Given the description of an element on the screen output the (x, y) to click on. 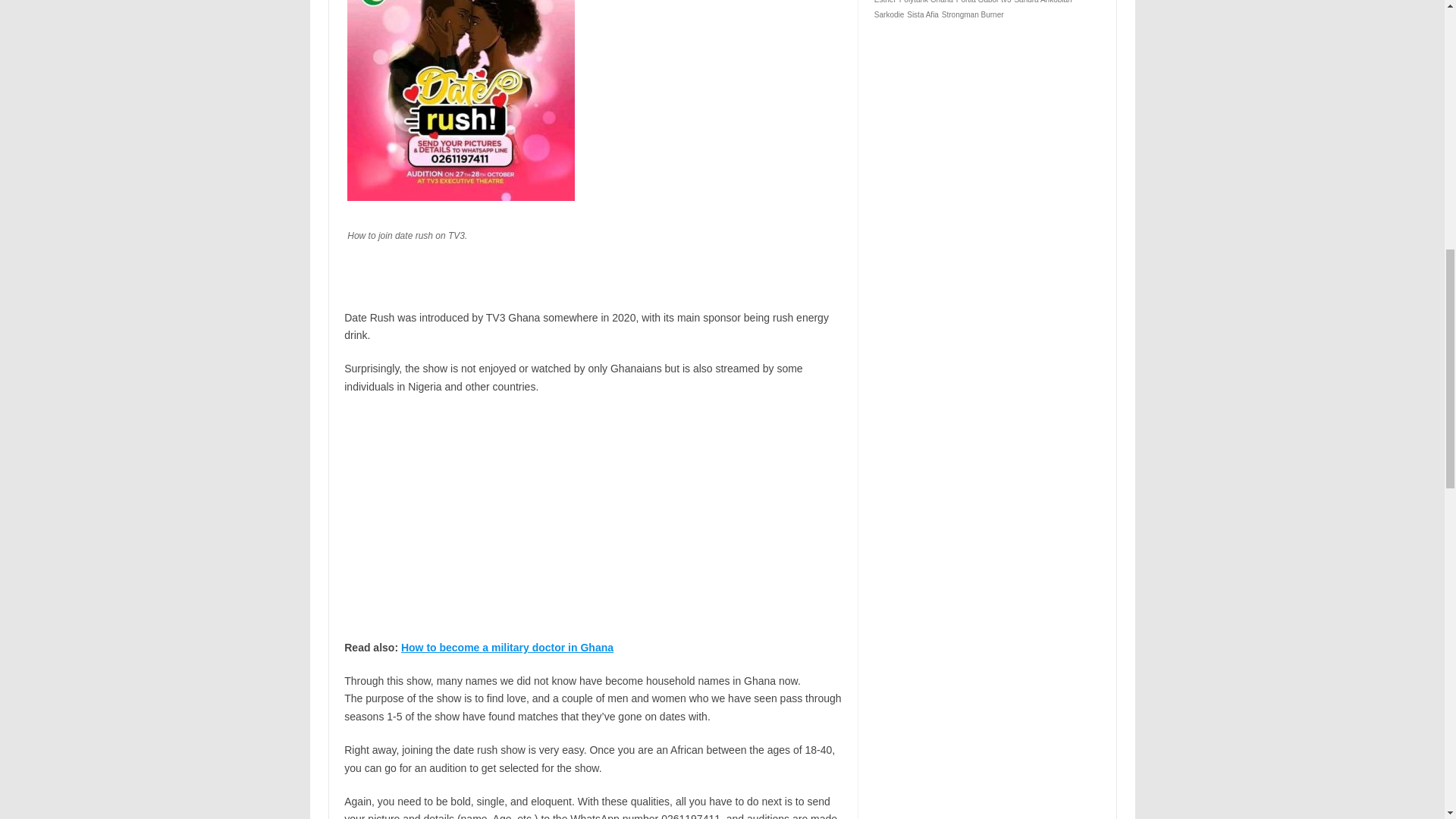
Advertisement (593, 517)
How to become a military doctor in Ghana (506, 647)
